Given the description of an element on the screen output the (x, y) to click on. 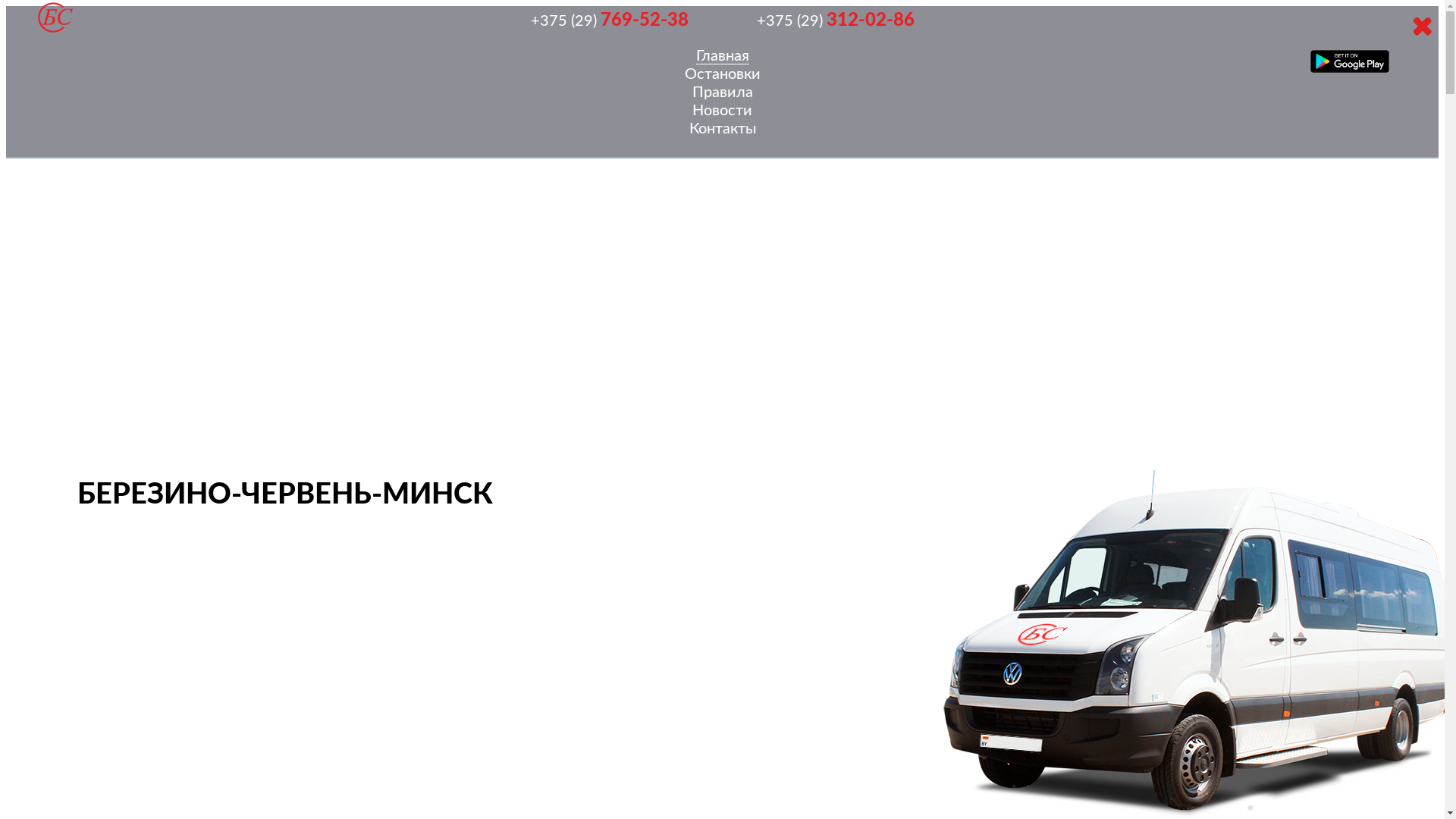
+375 (29) 769-52-38 Element type: text (608, 20)
+375 (29) 312-02-86 Element type: text (834, 20)
